Given the description of an element on the screen output the (x, y) to click on. 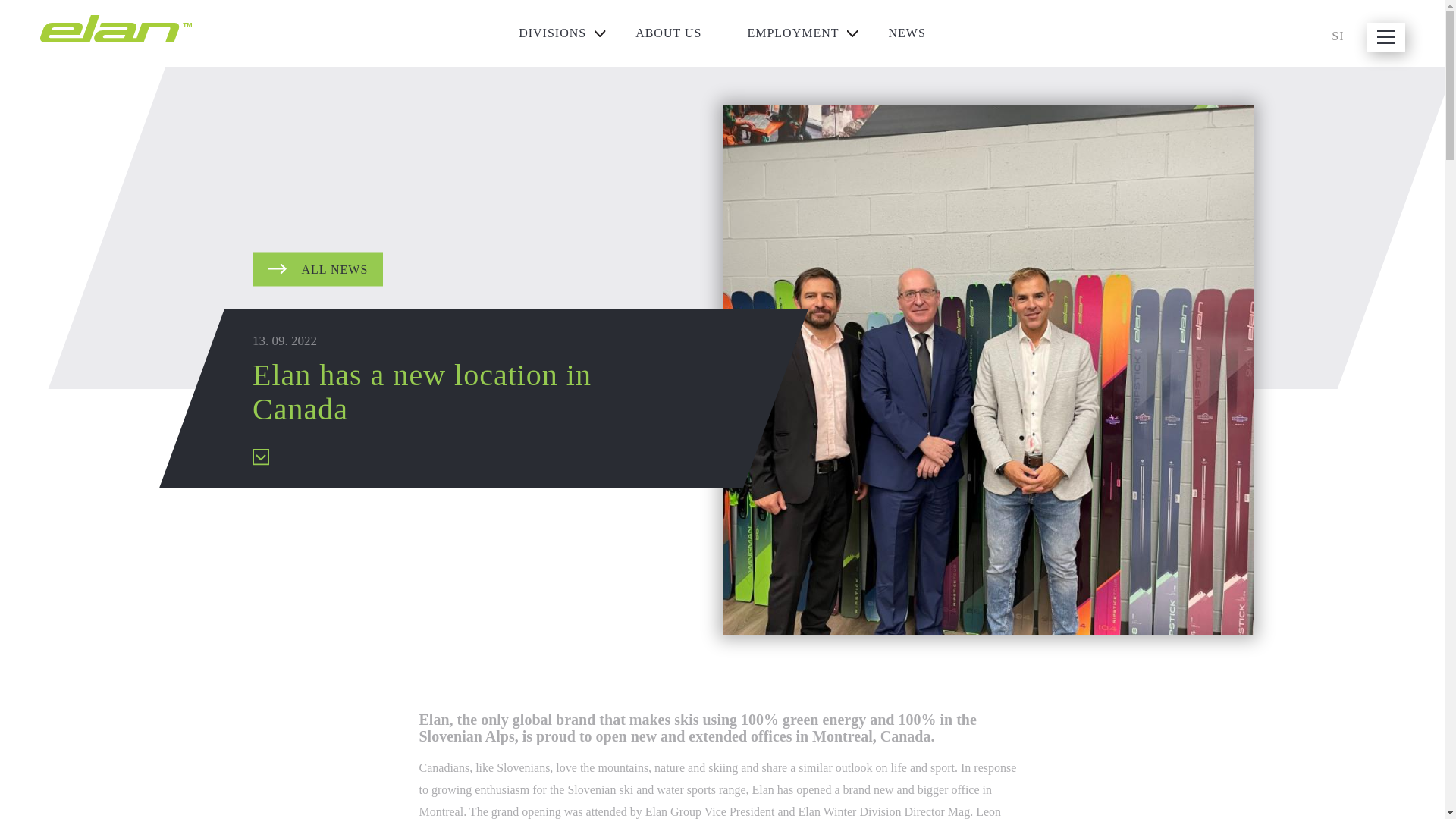
EMPLOYMENT (793, 33)
SI (1337, 35)
NEWS (907, 33)
DIVISIONS (554, 33)
ABOUT US (667, 33)
ALL NEWS (316, 268)
